Given the description of an element on the screen output the (x, y) to click on. 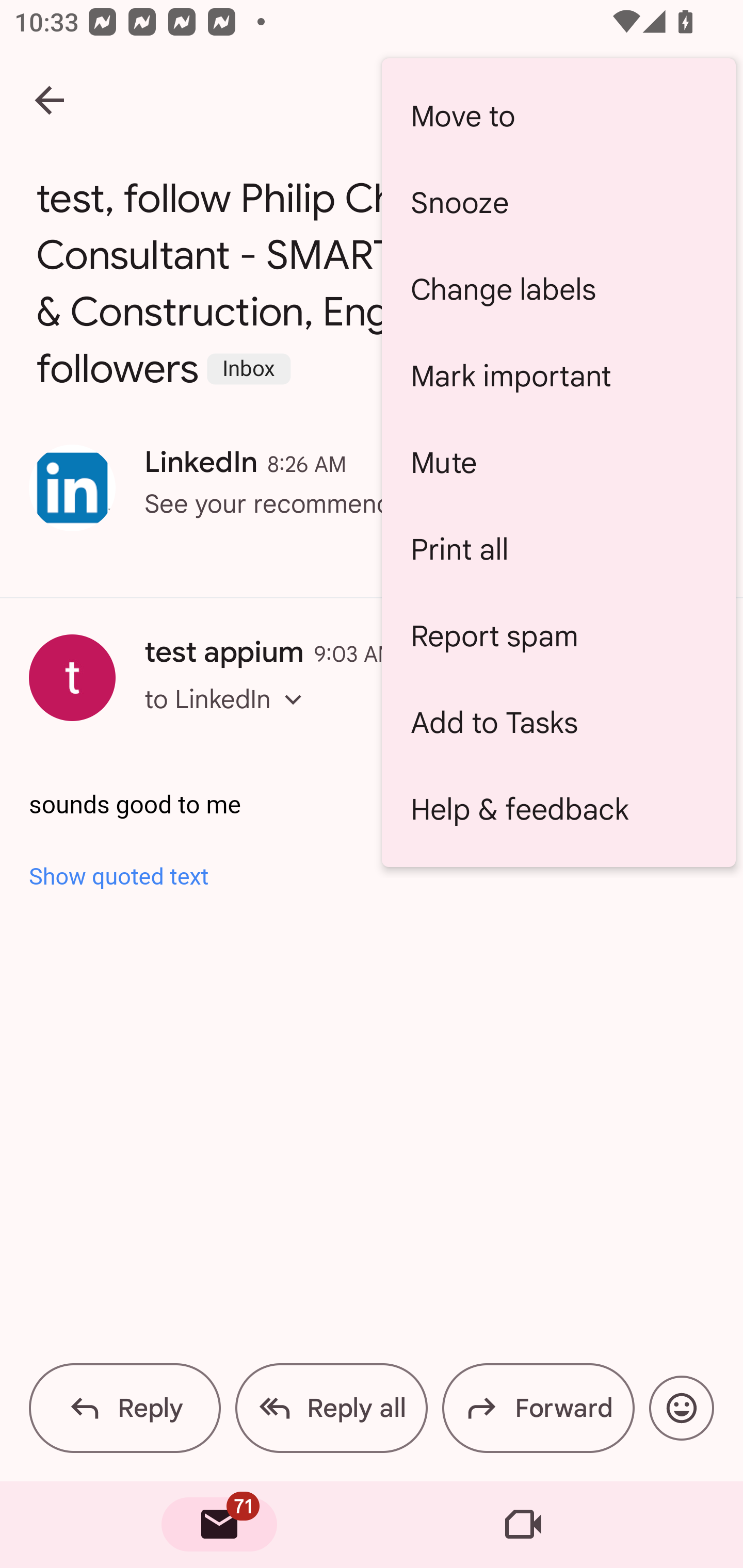
Move to (558, 115)
Snooze (558, 202)
Change labels (558, 289)
Mark important (558, 375)
Mute (558, 462)
Print all (558, 549)
Report spam (558, 635)
Add to Tasks (558, 721)
Help & feedback (558, 808)
